Given the description of an element on the screen output the (x, y) to click on. 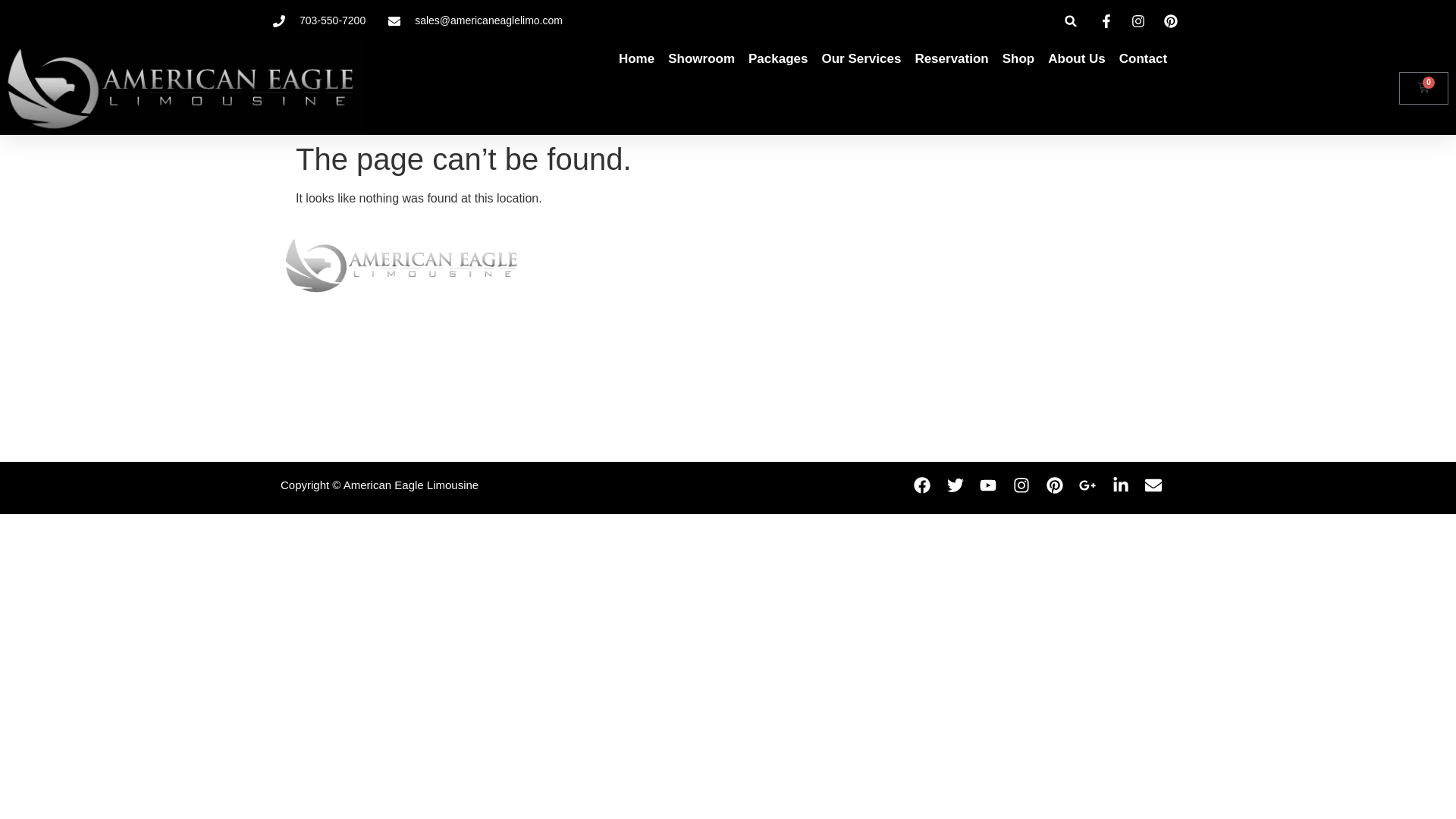
Home (635, 58)
About Us (1076, 58)
Our Services (861, 58)
Showroom (701, 58)
Contact (1143, 58)
8390 Terminal Road, Lorton VA 22079 (989, 340)
Packages (778, 58)
703-550-7200 (319, 20)
Reservation (951, 58)
Shop (1019, 58)
